Given the description of an element on the screen output the (x, y) to click on. 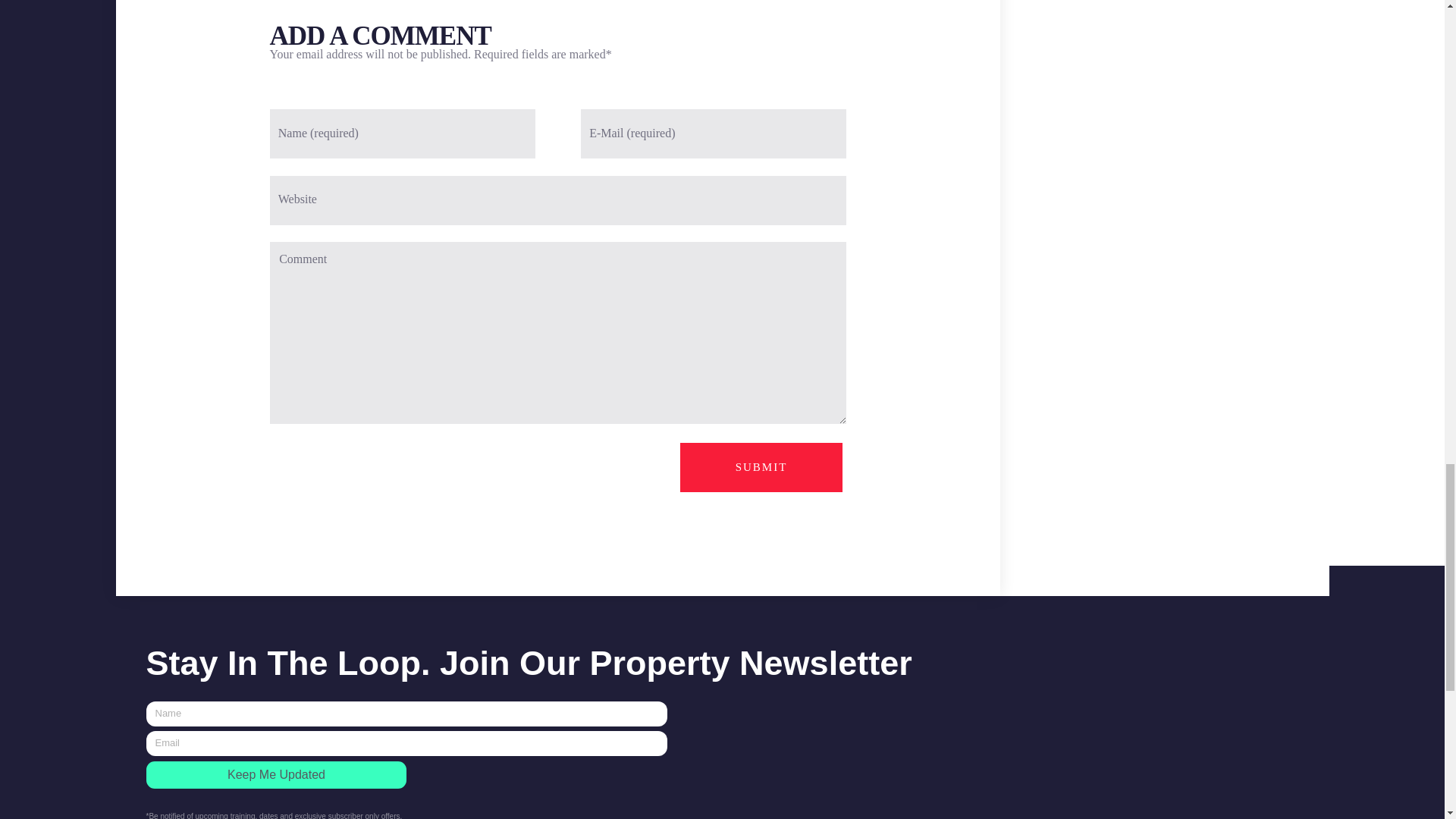
Keep Me Updated (275, 774)
Submit (761, 467)
Submit (761, 467)
